Given the description of an element on the screen output the (x, y) to click on. 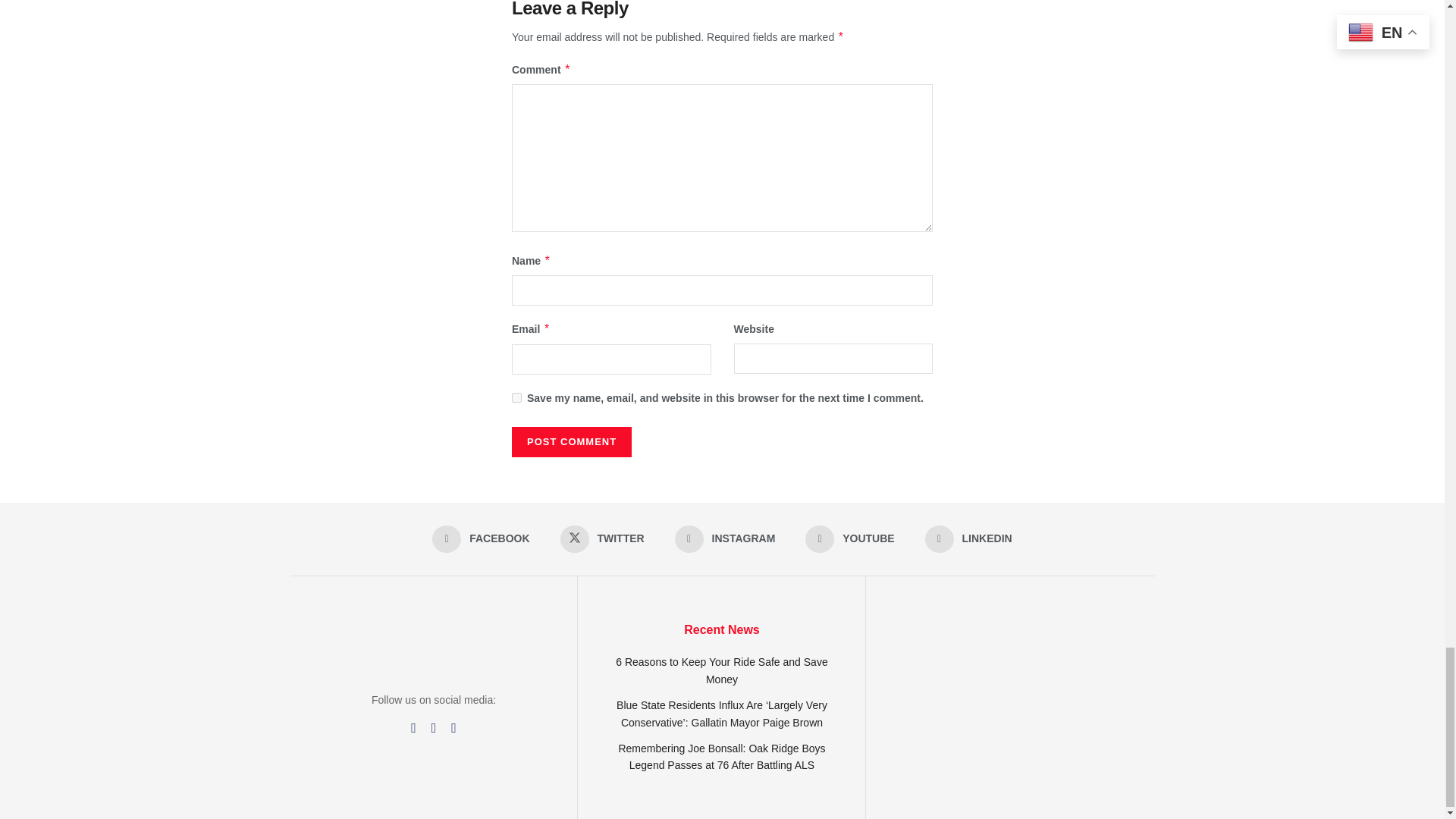
Post Comment (571, 441)
yes (516, 397)
